Given the description of an element on the screen output the (x, y) to click on. 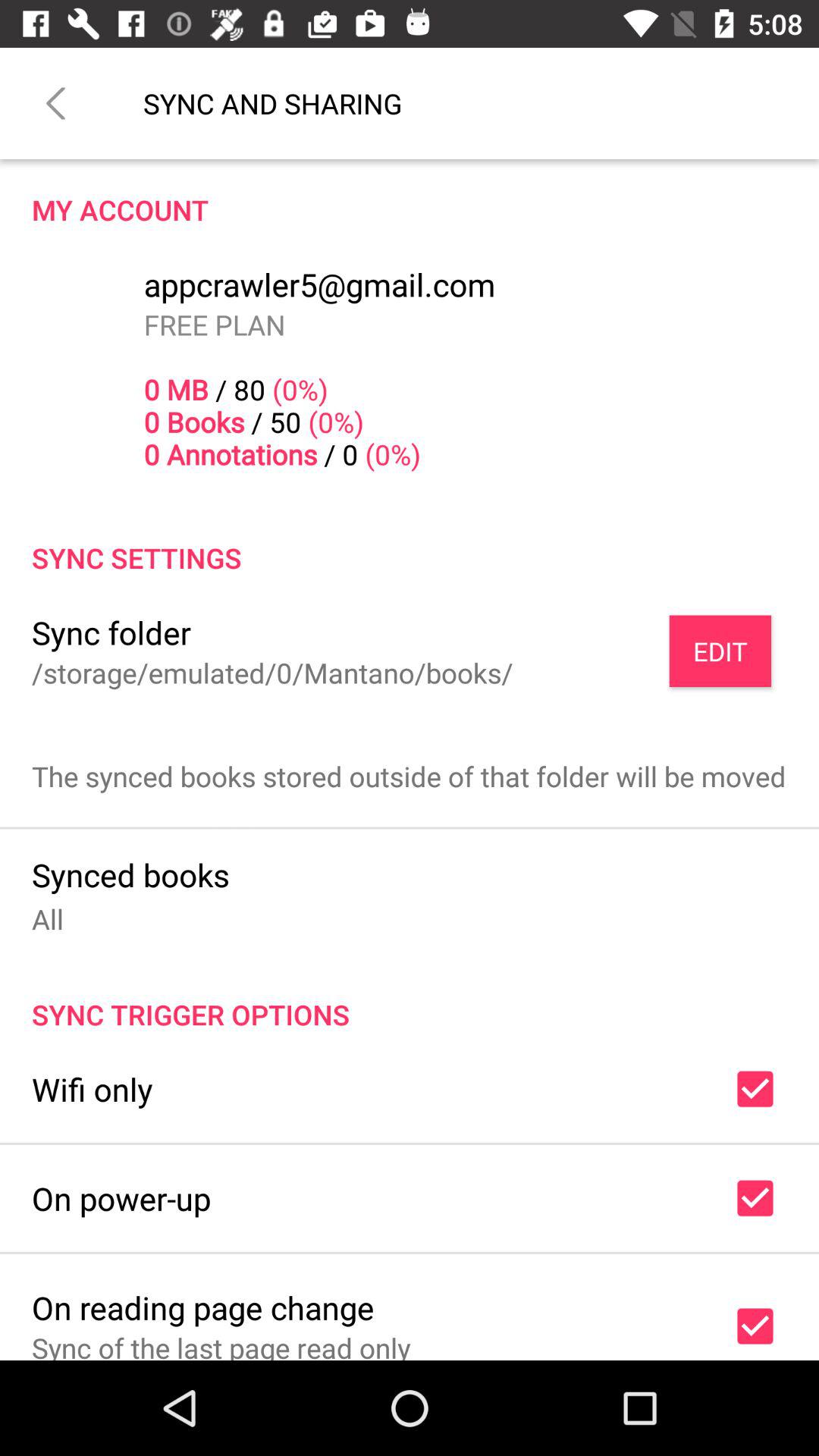
tap the edit (720, 651)
